Given the description of an element on the screen output the (x, y) to click on. 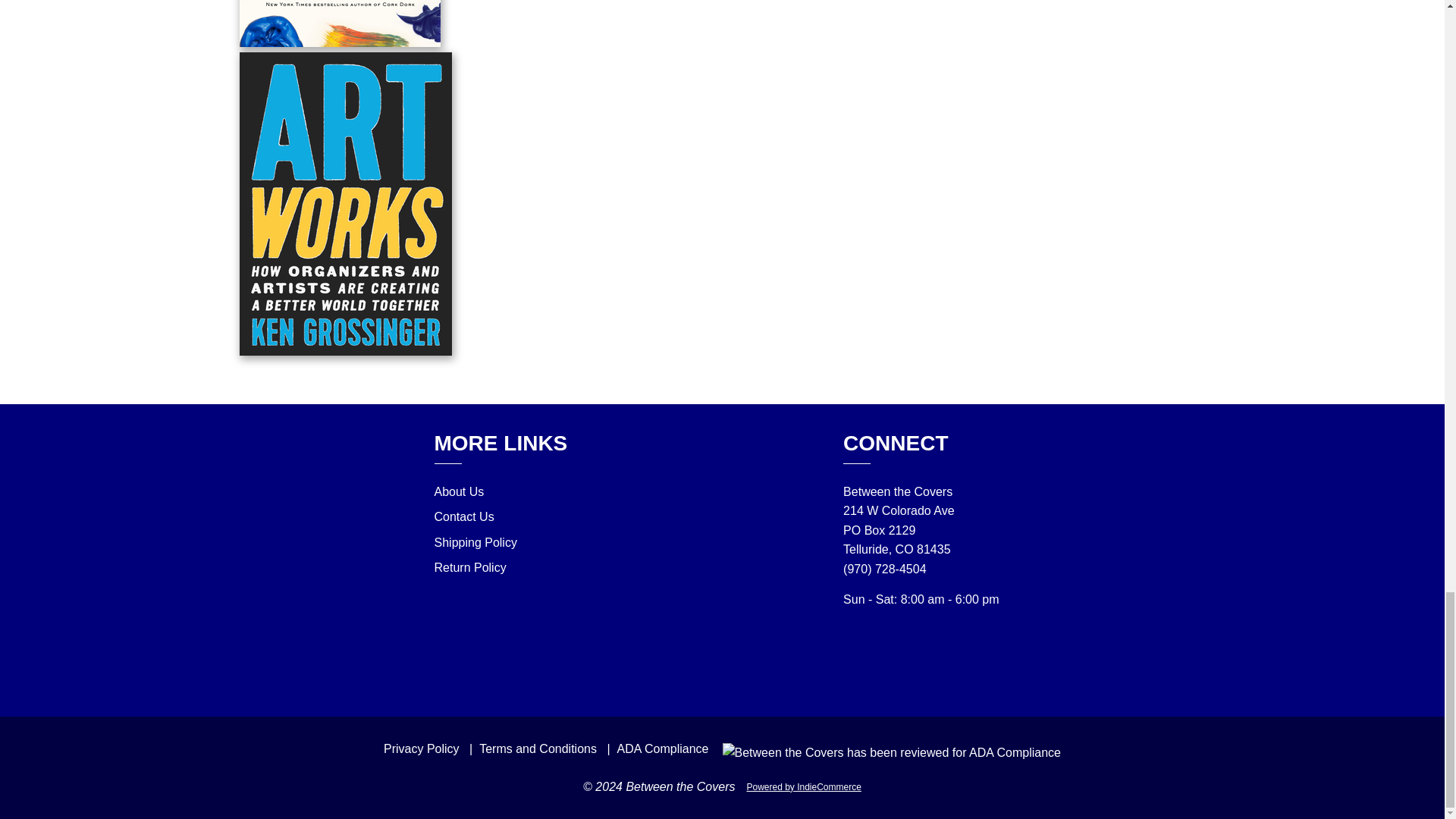
Connect with Facebook (943, 663)
Shipping Policy (474, 542)
Return Policy (469, 567)
About Us (458, 490)
Privacy Policy (422, 748)
Connect with Instagram (909, 663)
Terms and Conditions (537, 748)
Contact Us (463, 516)
